Given the description of an element on the screen output the (x, y) to click on. 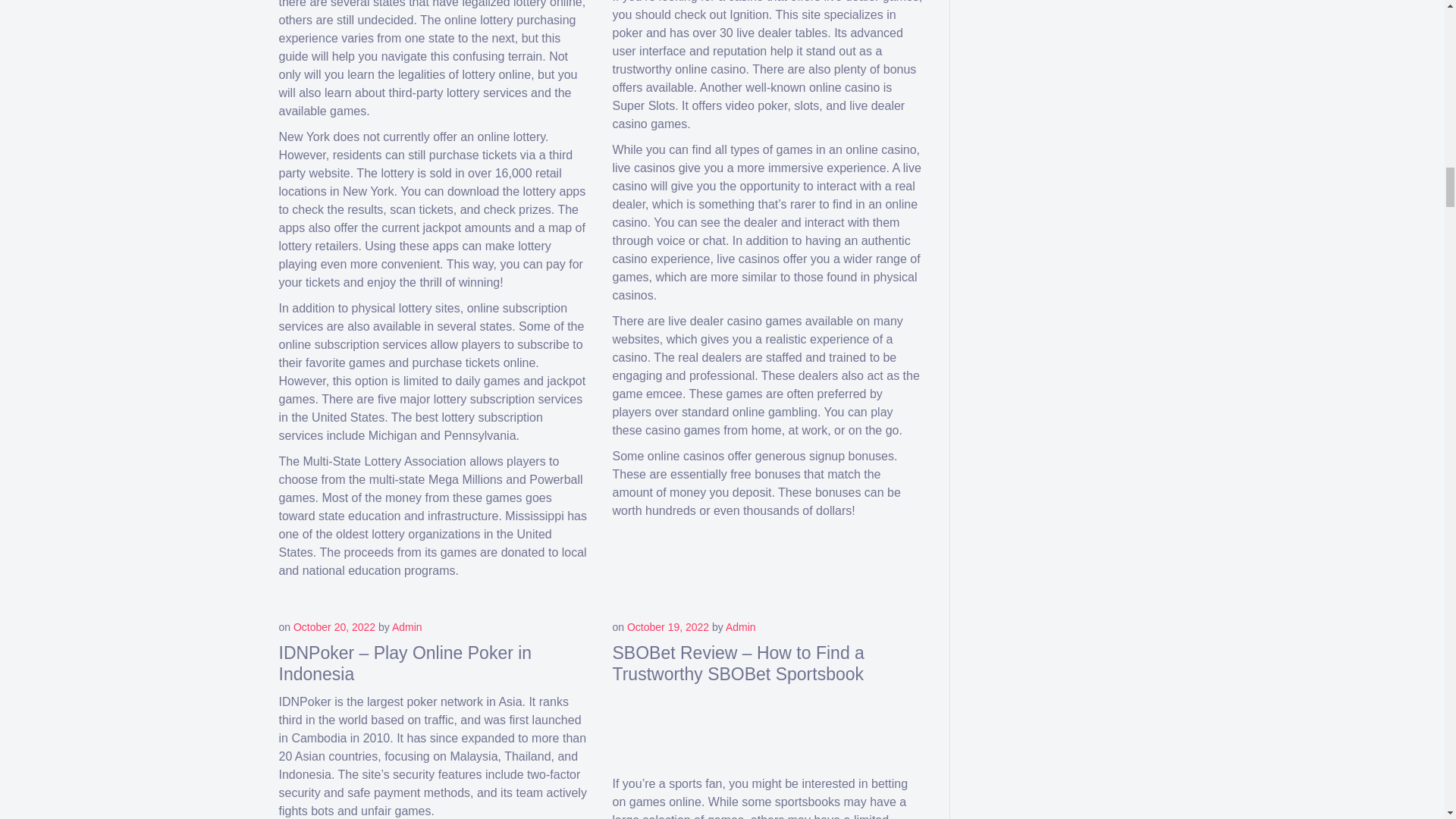
Admin (406, 626)
October 19, 2022 (668, 626)
October 20, 2022 (334, 626)
Admin (740, 626)
